Given the description of an element on the screen output the (x, y) to click on. 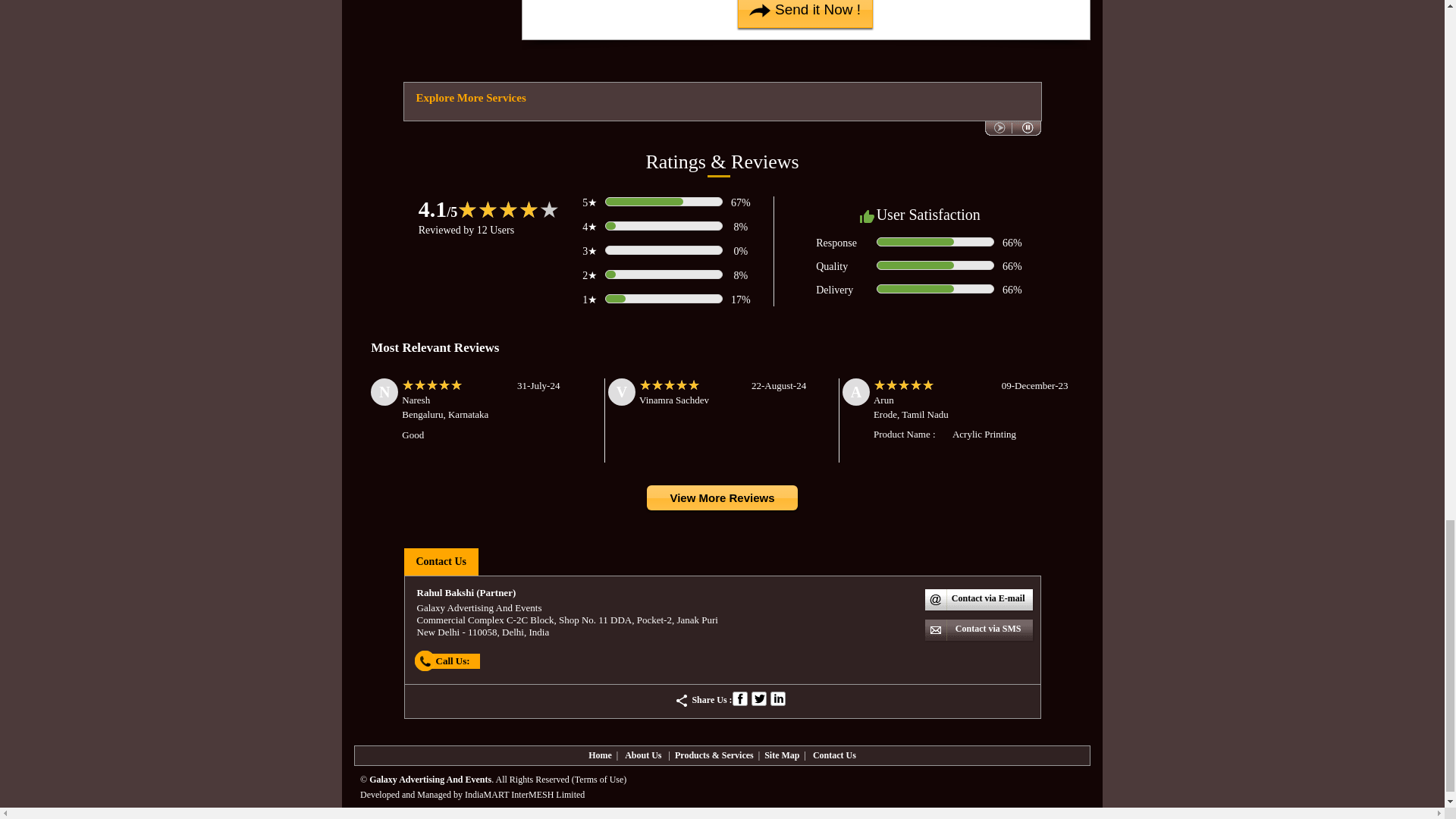
Send it Now ! (805, 13)
4.1 out of 5 Votes (438, 208)
Send it Now ! (805, 13)
